Given the description of an element on the screen output the (x, y) to click on. 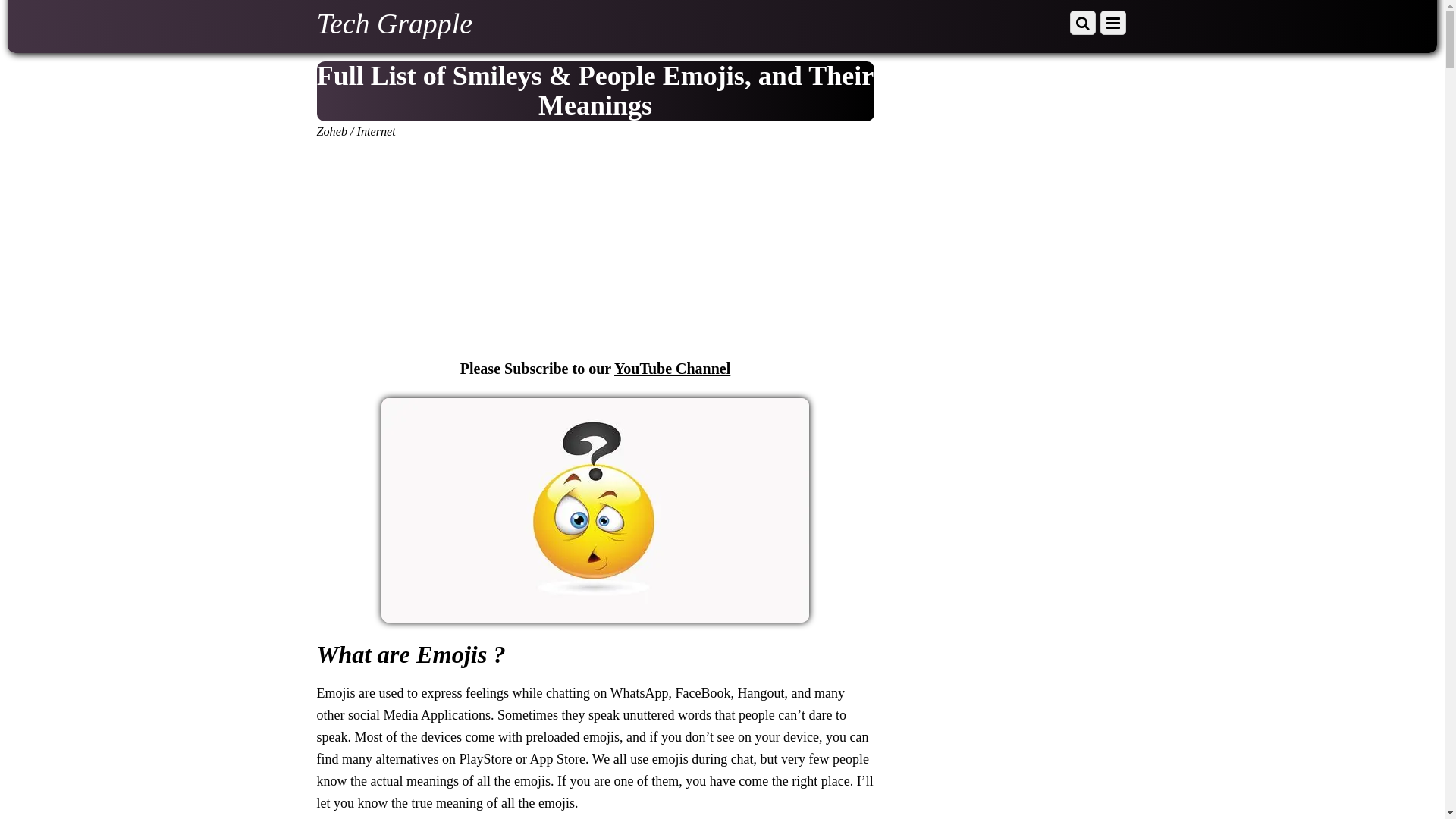
Advertisement (596, 251)
Internet (376, 131)
Tech Grapple (394, 23)
Zoheb (332, 131)
YouTube Channel (672, 368)
Tech Grapple (394, 23)
